Given the description of an element on the screen output the (x, y) to click on. 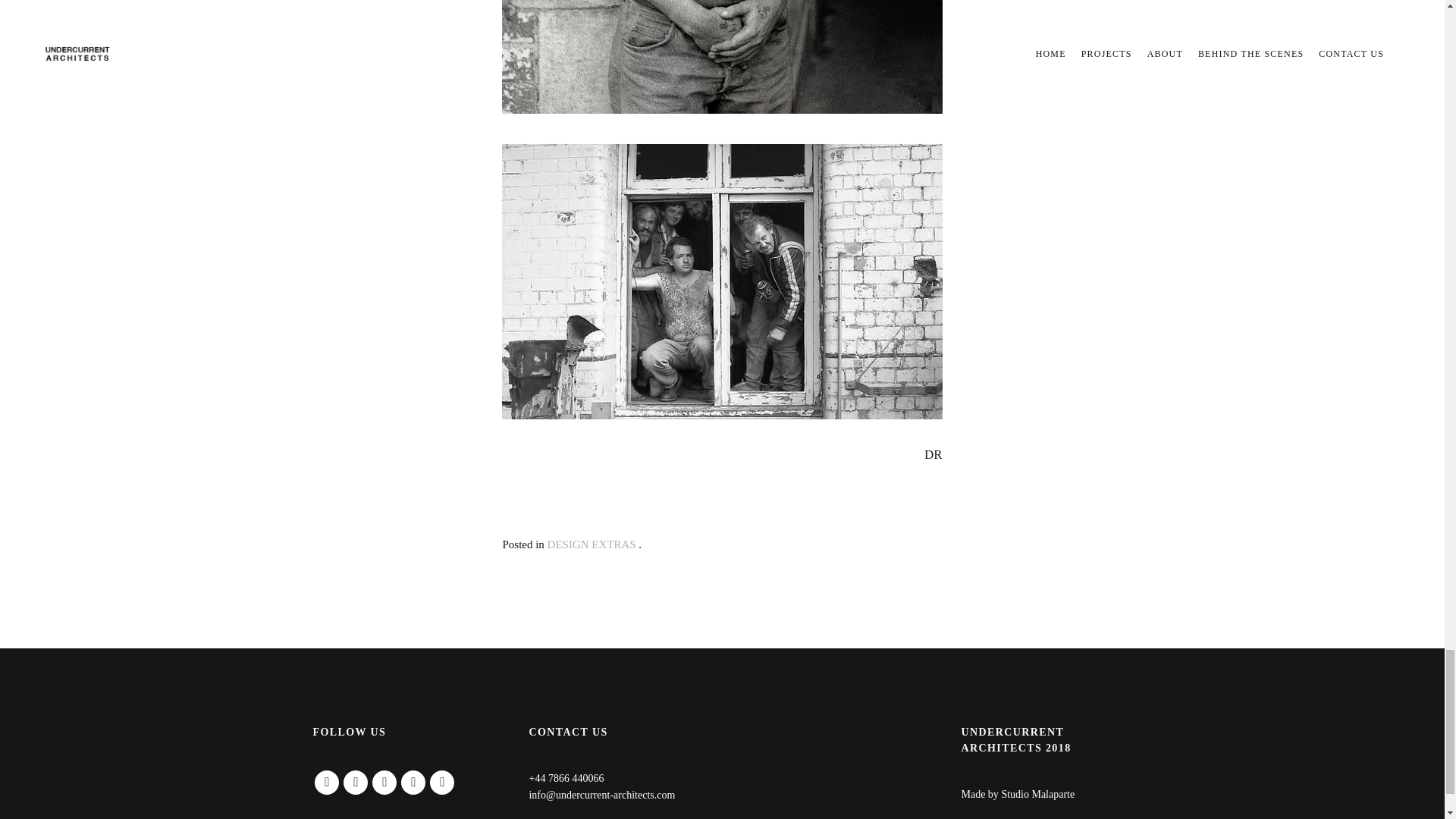
View all posts in DESIGN EXTRAS (591, 544)
TWITTER (355, 782)
YOUTUBE (441, 782)
INSTAGRAM (384, 782)
TUMBLR (413, 782)
Studio Malaparte (1037, 794)
DESIGN EXTRAS (591, 544)
FACEBOOK (326, 782)
